Given the description of an element on the screen output the (x, y) to click on. 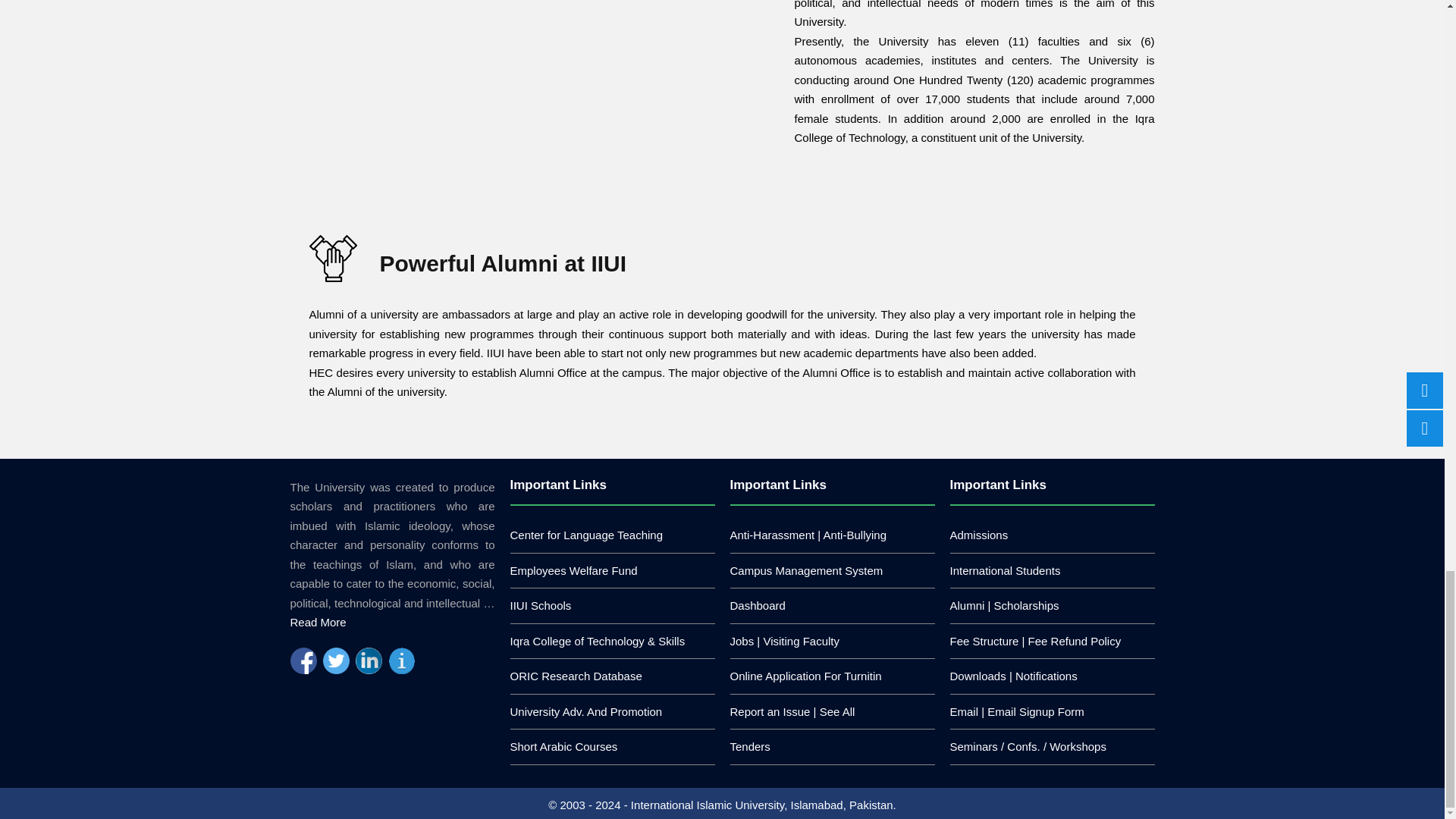
about-icon-3 (332, 258)
footer-li (596, 640)
